Given the description of an element on the screen output the (x, y) to click on. 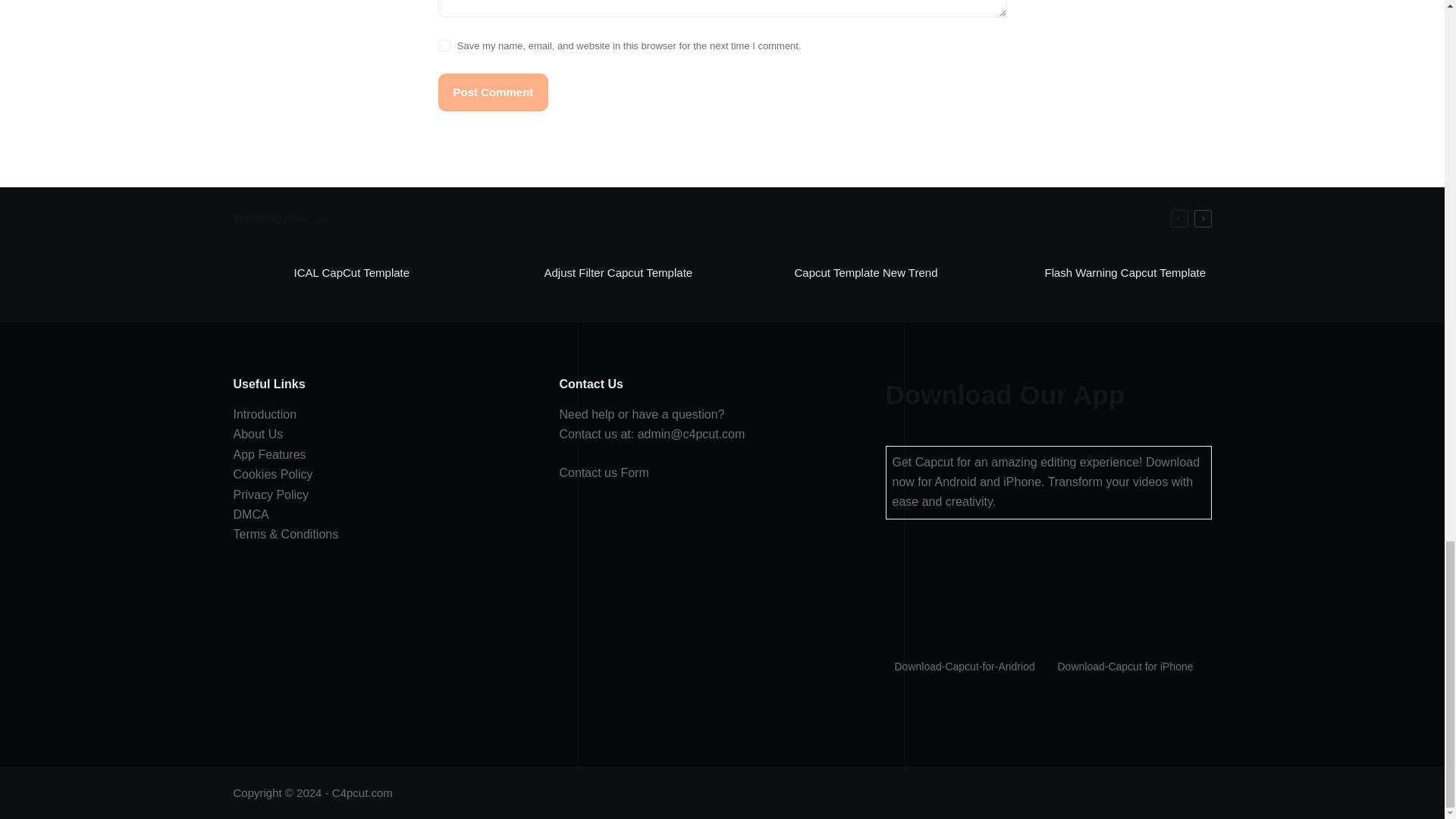
yes (443, 45)
